Given the description of an element on the screen output the (x, y) to click on. 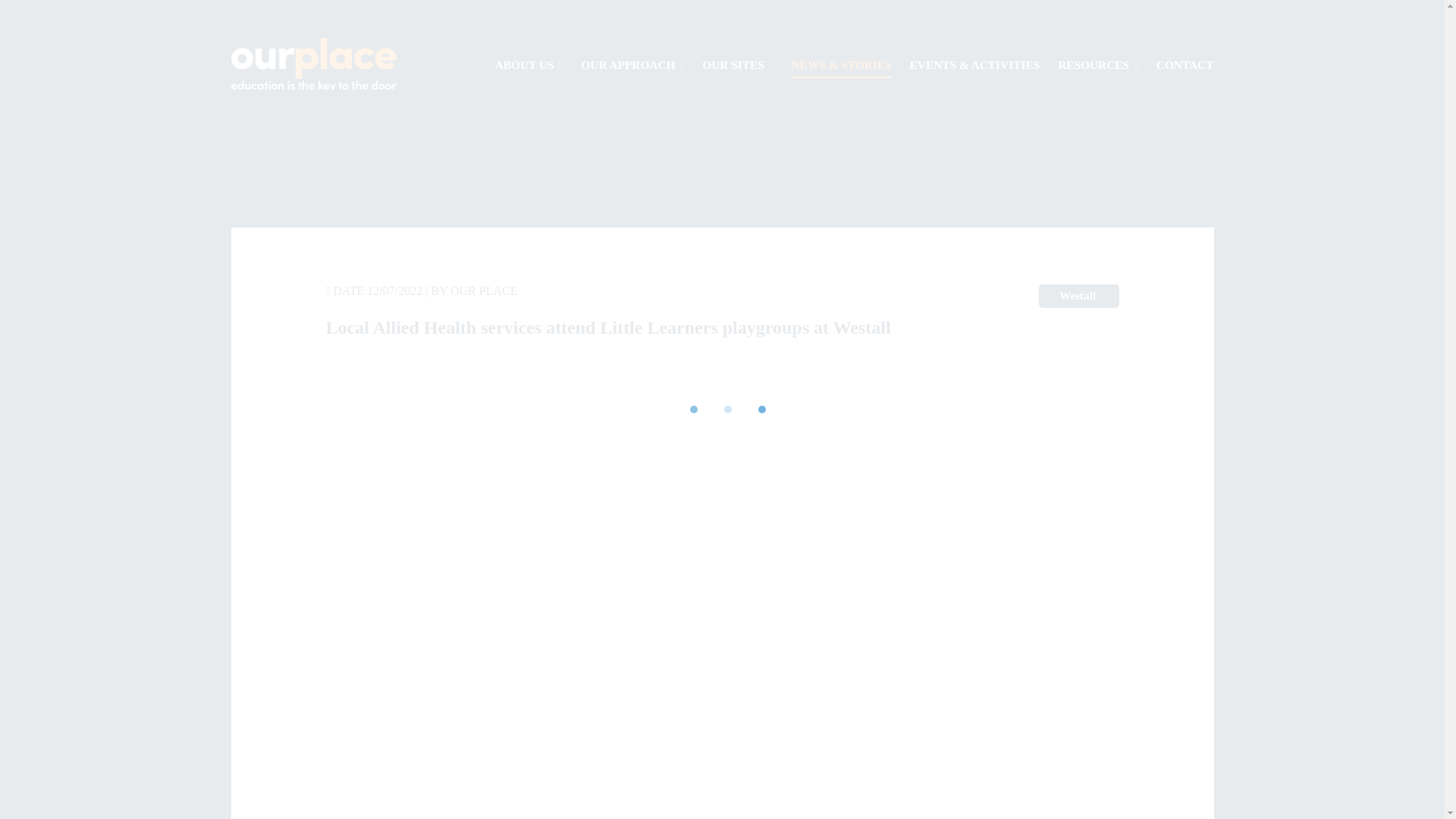
ABOUT US (529, 64)
CONTACT (1185, 64)
OUR SITES (737, 64)
OUR APPROACH (632, 64)
RESOURCES (1098, 64)
Posts by Our Place (482, 290)
